Given the description of an element on the screen output the (x, y) to click on. 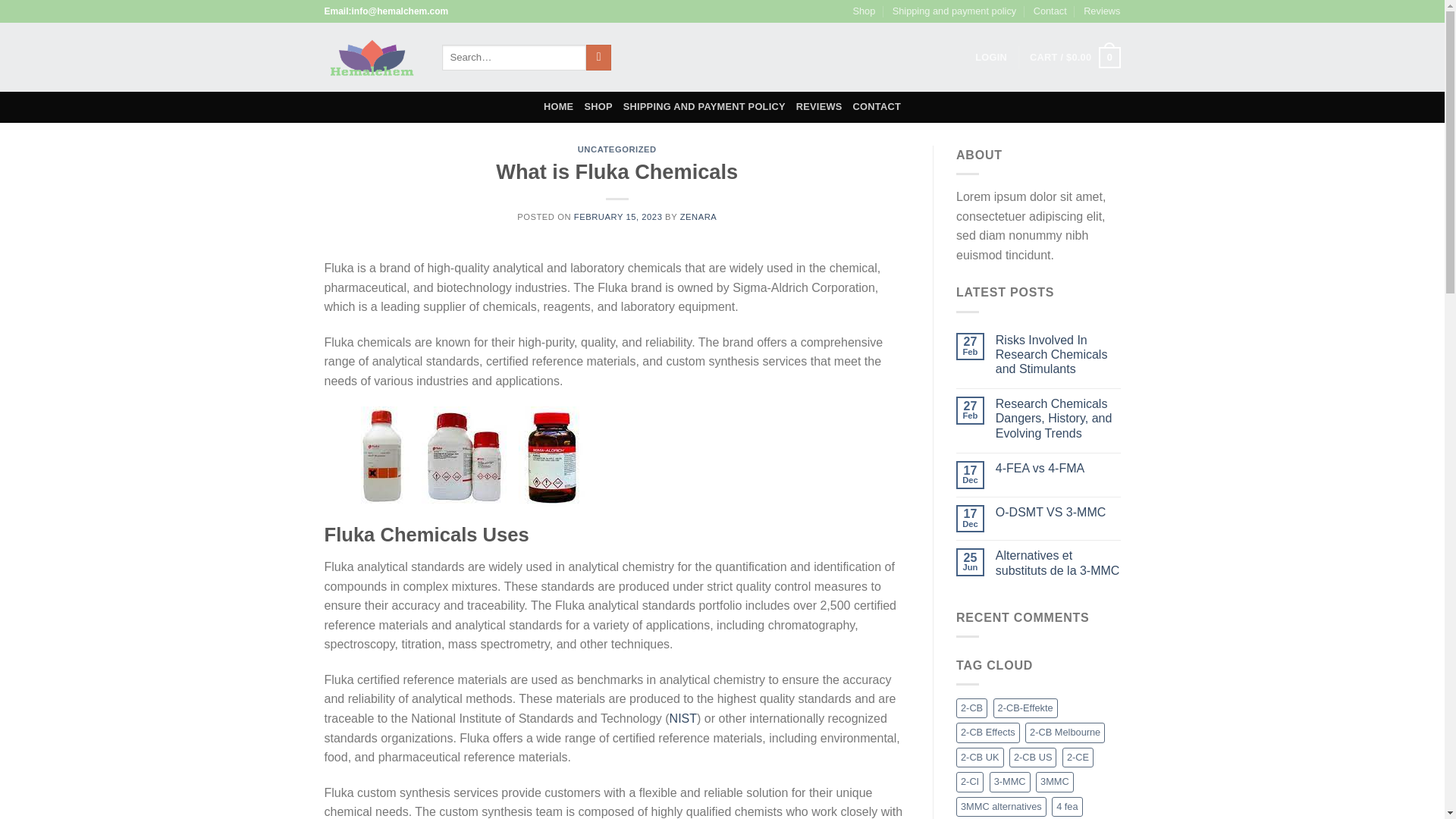
Hemalchem - Research Chemicals (371, 57)
REVIEWS (819, 106)
Shipping and payment policy (954, 11)
CONTACT (877, 106)
4-FEA vs 4-FMA (1058, 468)
UNCATEGORIZED (617, 148)
NIST (683, 717)
SHIPPING AND PAYMENT POLICY (704, 106)
Contact (1050, 11)
Risks Involved In Research Chemicals and Stimulants (1058, 354)
